Given the description of an element on the screen output the (x, y) to click on. 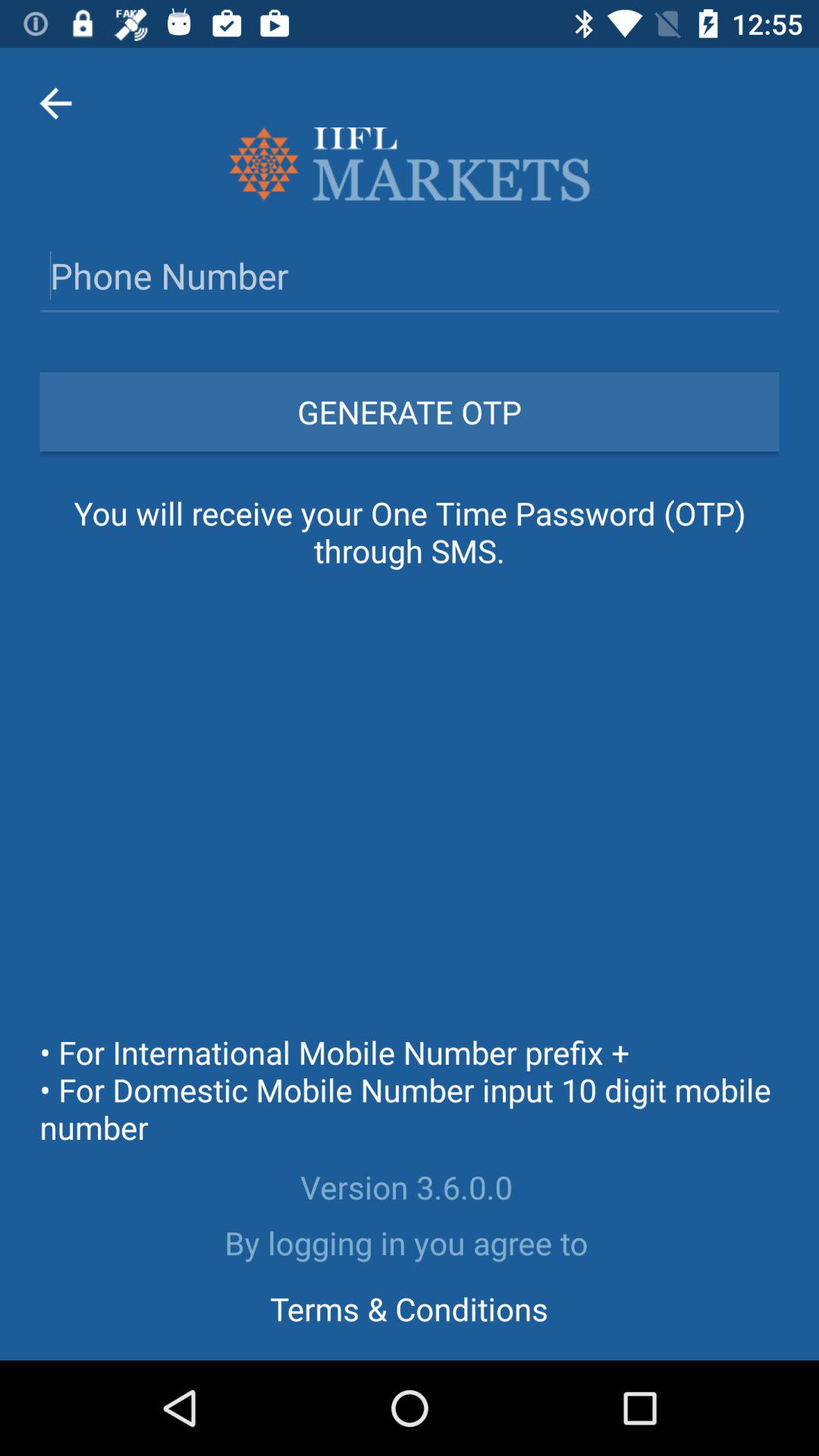
press icon above the you will receive icon (409, 411)
